Given the description of an element on the screen output the (x, y) to click on. 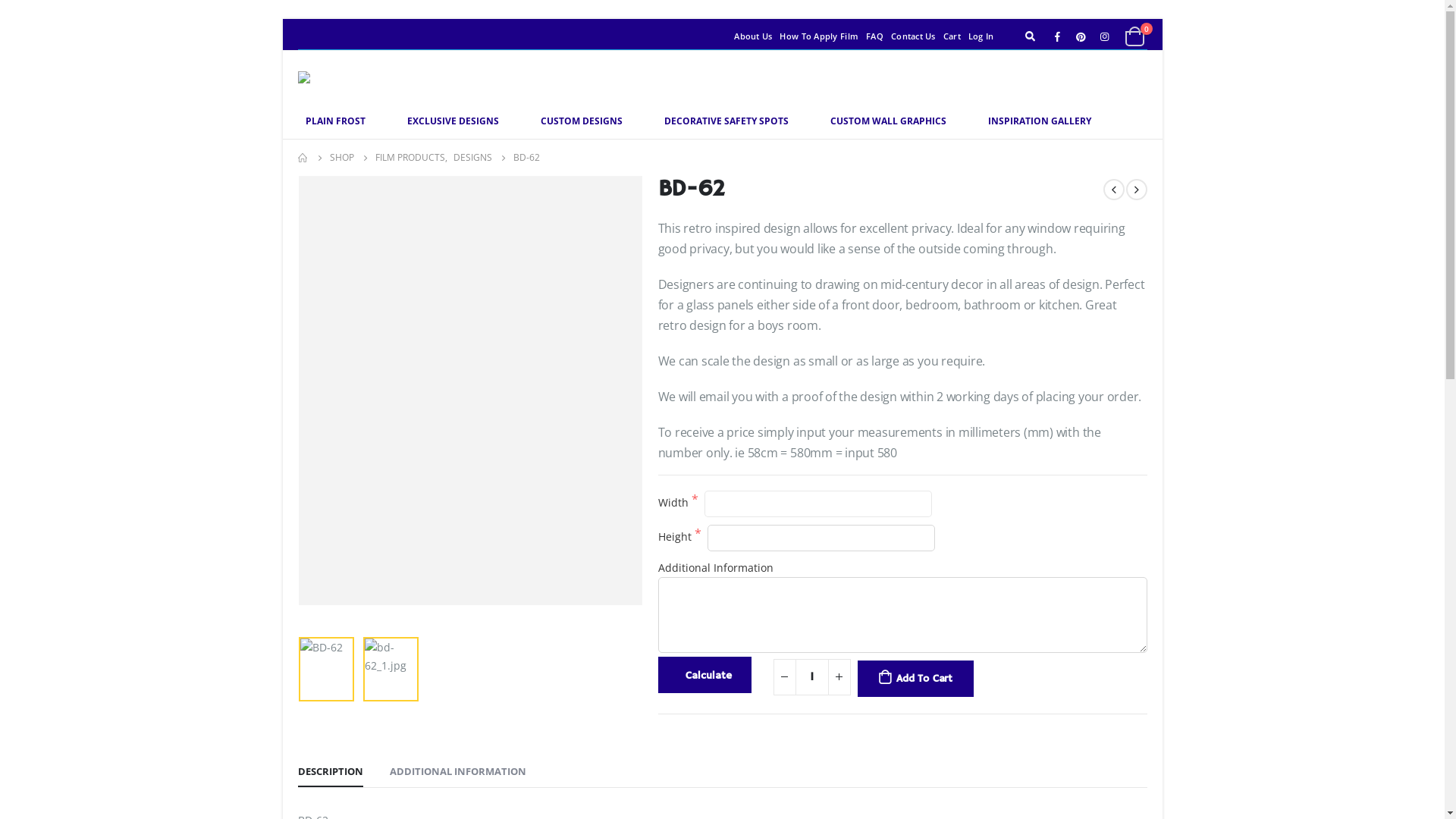
SHOP Element type: text (341, 157)
Go to Home Page Element type: hover (302, 157)
EXCLUSIVE DESIGNS Element type: text (451, 120)
Instagram Element type: hover (1104, 36)
About Us Element type: text (752, 36)
CUSTOM WALL GRAPHICS Element type: text (887, 120)
Log In Element type: text (980, 36)
BD-62 Element type: hover (469, 390)
DESIGNS Element type: text (472, 157)
- Element type: text (784, 676)
+ Element type: text (839, 676)
Facebook Element type: hover (1057, 36)
Add To Cart Element type: text (914, 678)
CUSTOM DESIGNS Element type: text (580, 120)
Calculate Element type: text (704, 674)
Cart Element type: text (951, 36)
Contact Us Element type: text (913, 36)
INSPIRATION GALLERY Element type: text (1038, 120)
FILM PRODUCTS Element type: text (409, 157)
PLAIN FROST Element type: text (334, 120)
Frost & Co. - DIY FROSTED FILM DESIGNS Element type: hover (330, 77)
Qty Element type: hover (811, 676)
Pinterest Element type: hover (1080, 36)
FAQ Element type: text (874, 36)
DECORATIVE SAFETY SPOTS Element type: text (726, 120)
How To Apply Film Element type: text (818, 36)
